Given the description of an element on the screen output the (x, y) to click on. 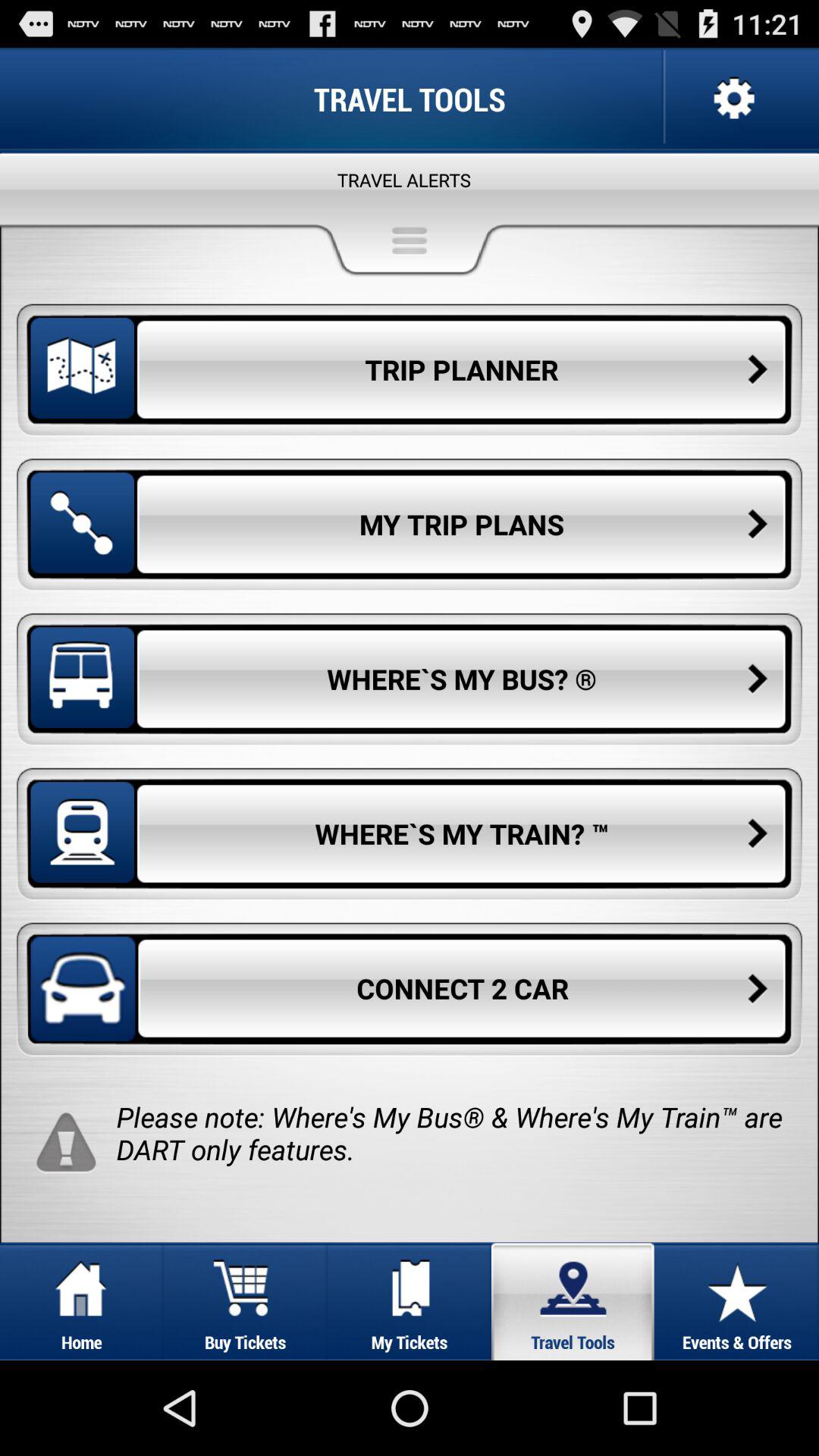
settings (732, 99)
